Given the description of an element on the screen output the (x, y) to click on. 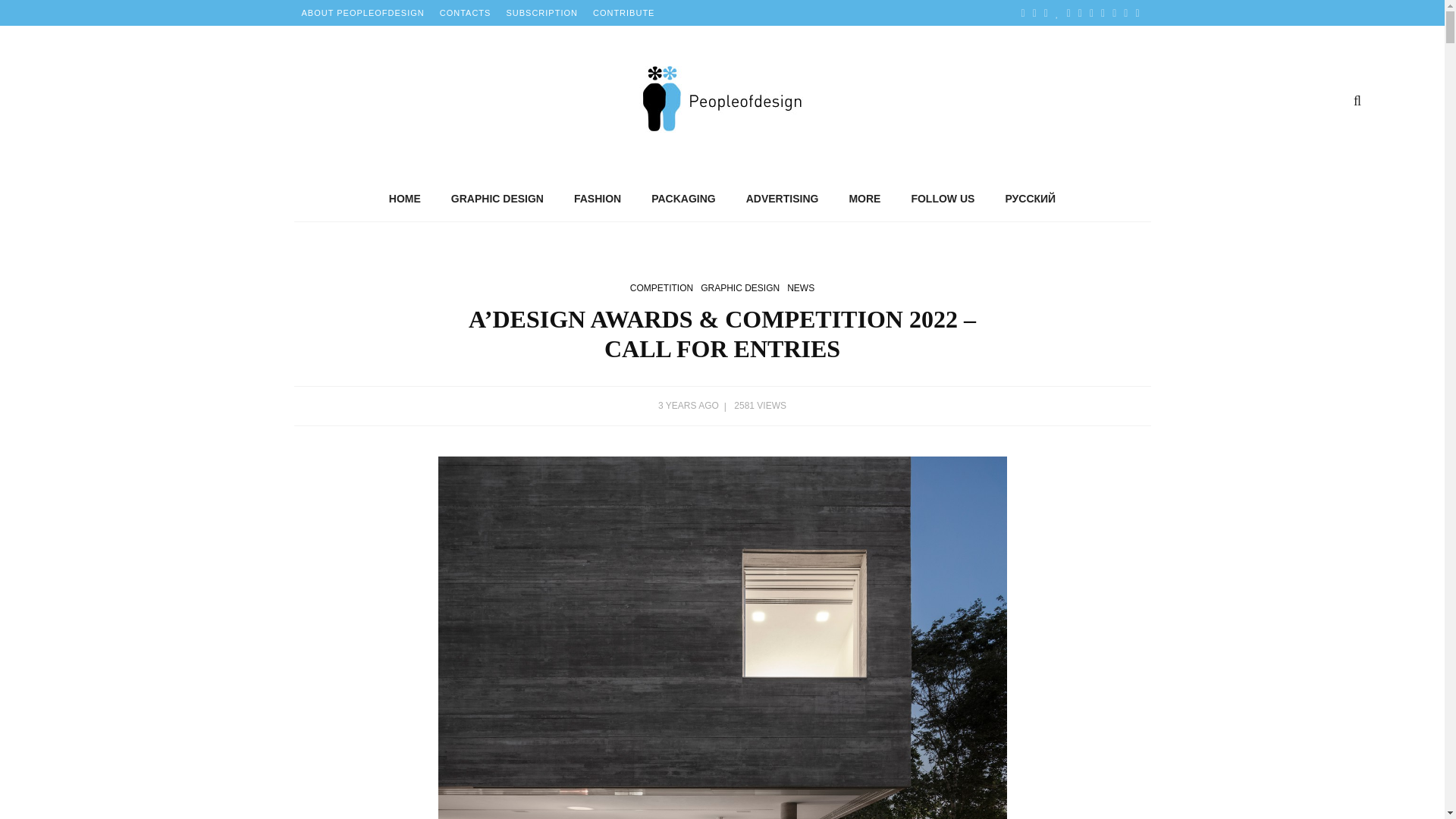
Bloglovin (1056, 12)
Twitter (1035, 12)
ABOUT PEOPLEOFDESIGN (363, 12)
Facebook (1023, 12)
SUBSCRIPTION (541, 12)
CONTACTS (465, 12)
CONTRIBUTE (623, 12)
Pinterest (1046, 12)
